Given the description of an element on the screen output the (x, y) to click on. 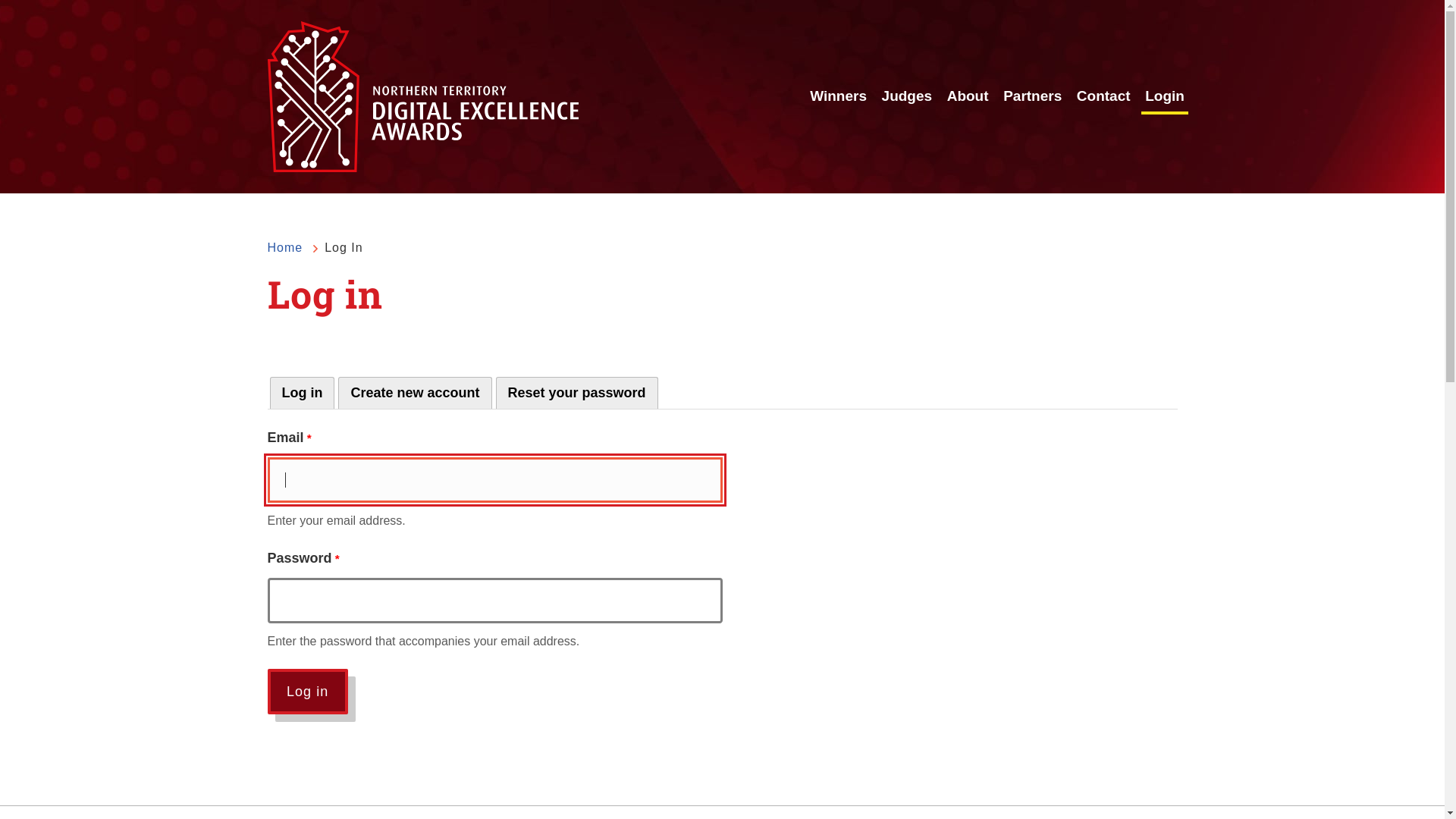
About Element type: text (967, 96)
Reset your password Element type: text (576, 392)
Home Element type: text (284, 247)
Create new account Element type: text (414, 392)
Log in Element type: text (306, 691)
Login Element type: text (1164, 96)
Contact Element type: text (1103, 96)
Partners Element type: text (1032, 96)
Winners Element type: text (838, 96)
Judges Element type: text (907, 96)
Skip to main content Element type: text (0, 0)
Log in
(active tab) Element type: text (302, 392)
